Given the description of an element on the screen output the (x, y) to click on. 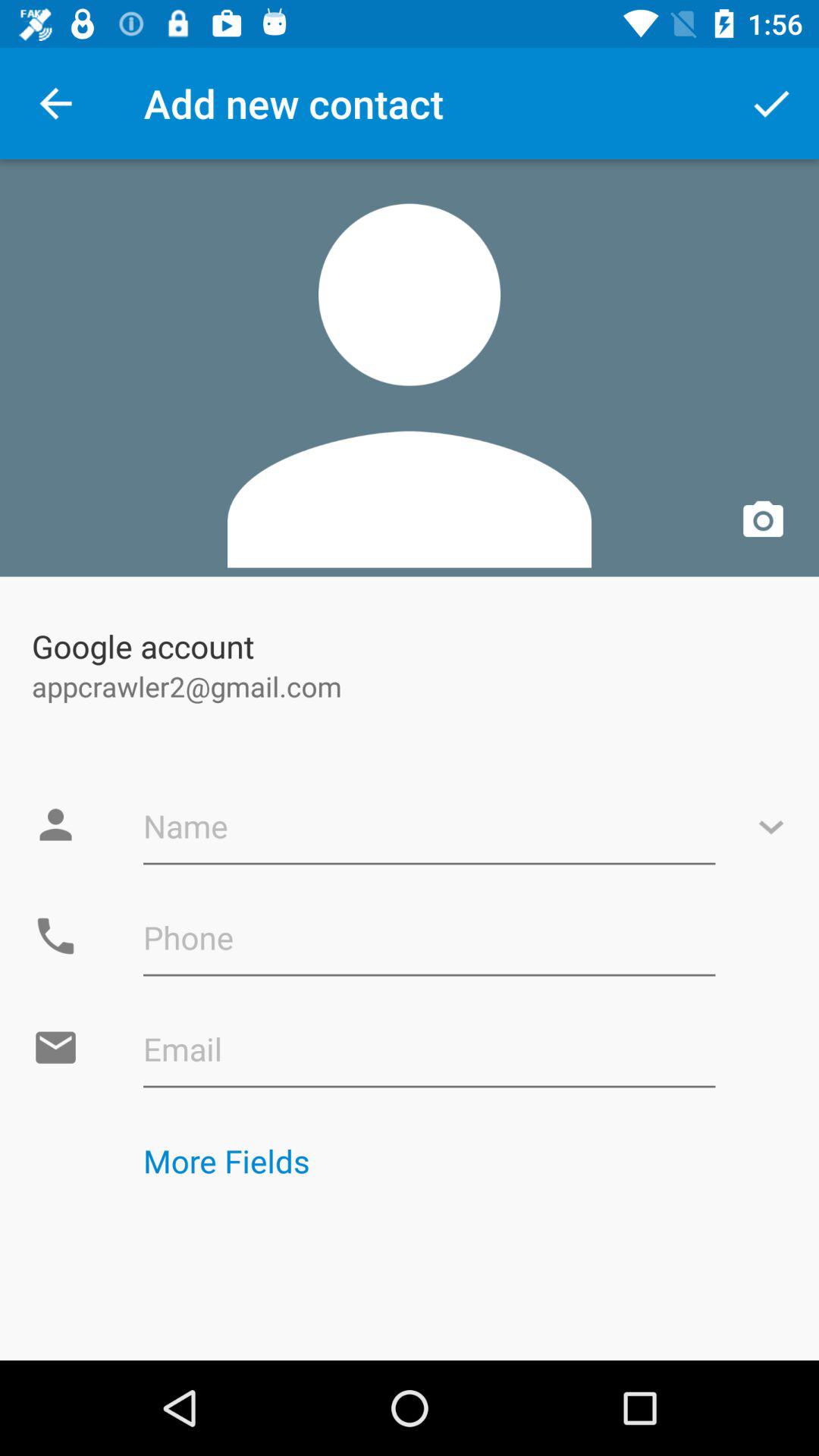
launch the app next to add new contact item (771, 103)
